Given the description of an element on the screen output the (x, y) to click on. 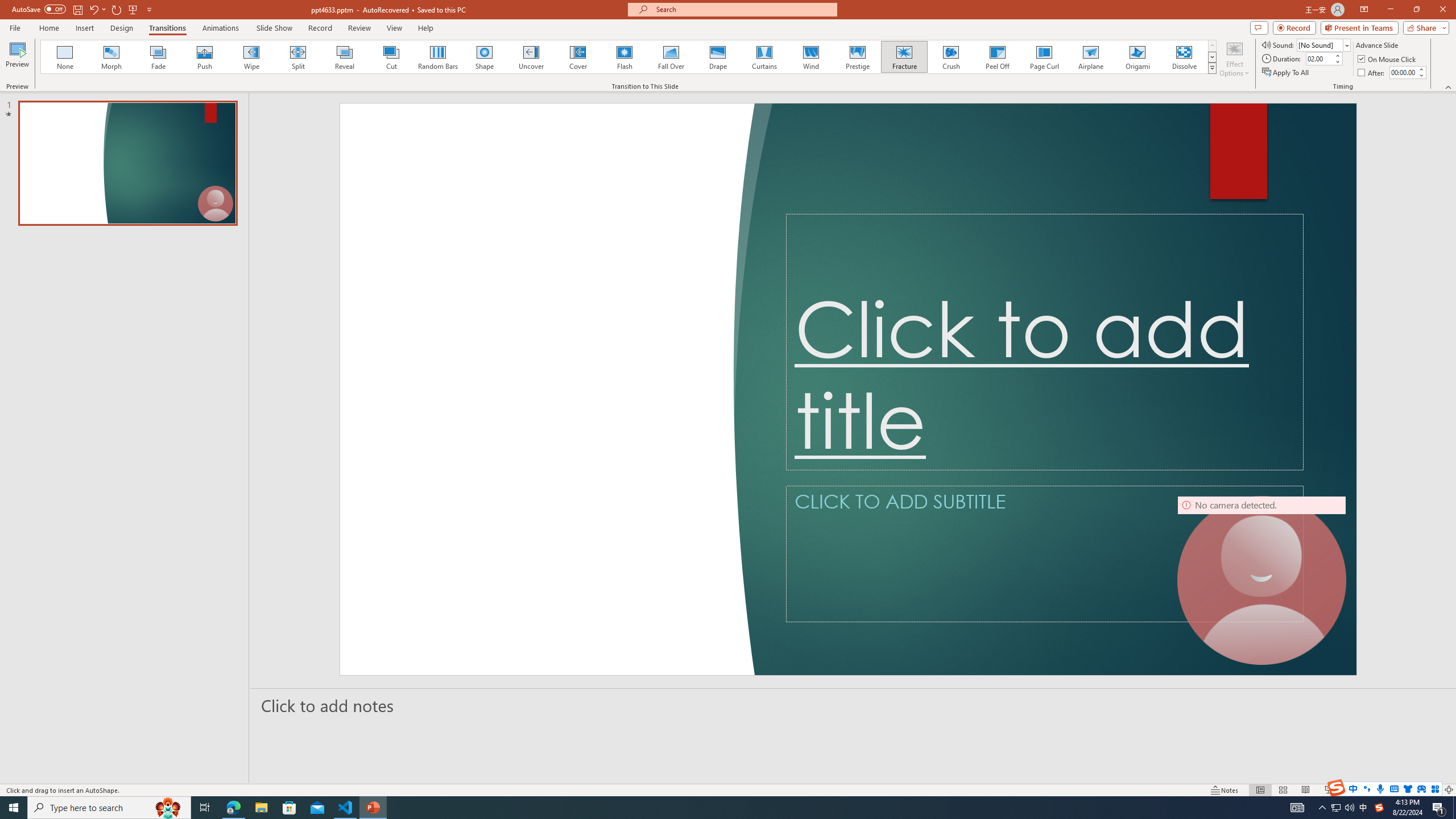
Drape (717, 56)
Dissolve (1183, 56)
Fade (158, 56)
Random Bars (437, 56)
Uncover (531, 56)
